Given the description of an element on the screen output the (x, y) to click on. 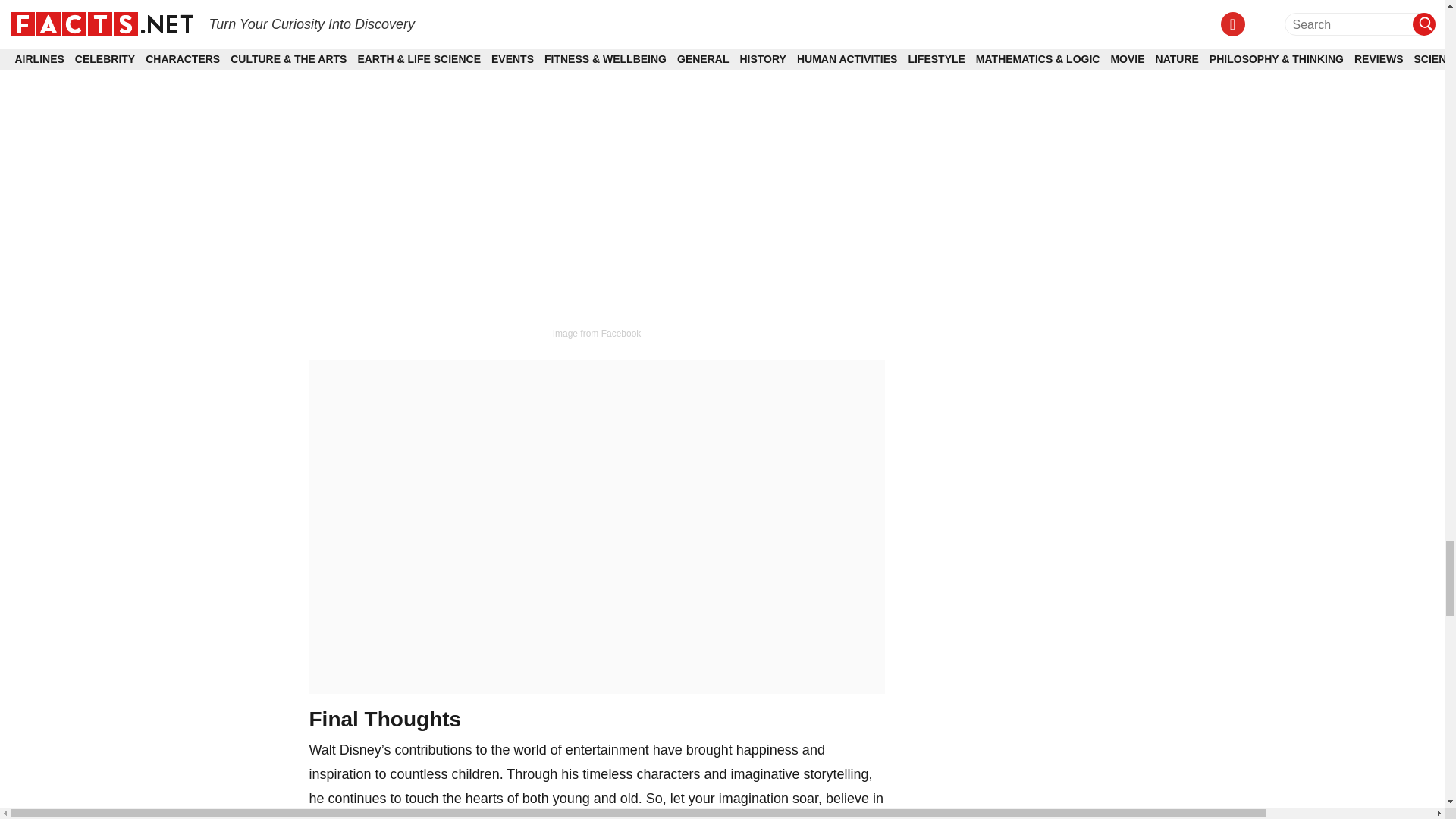
inspire and entertain (814, 33)
magical journey (529, 816)
